Given the description of an element on the screen output the (x, y) to click on. 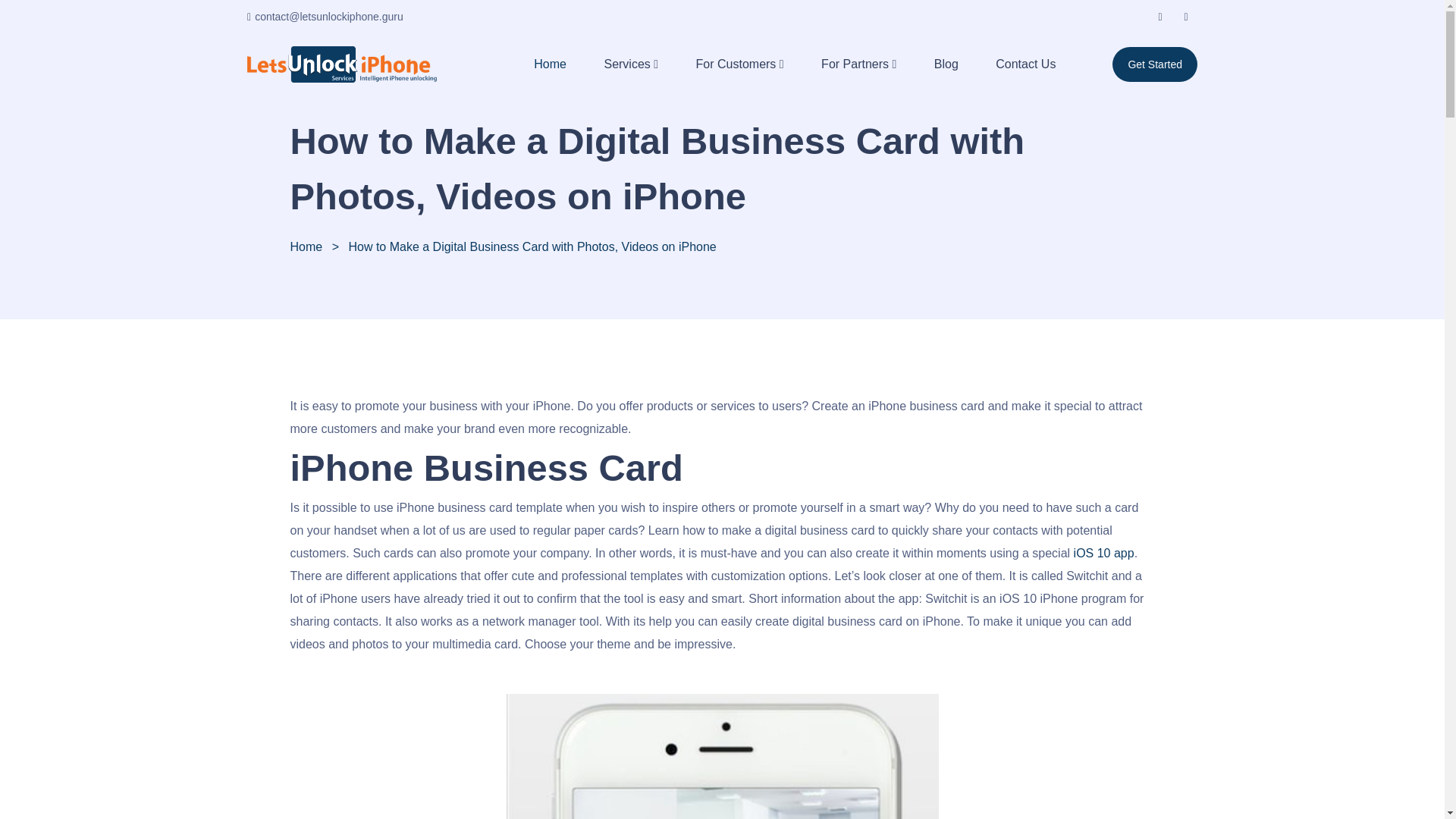
For Customers (730, 63)
Contact Us (1019, 63)
Services (620, 63)
For Partners (848, 63)
Get Started (1154, 64)
iOS 10 app (1104, 553)
Home (305, 246)
Blog (940, 63)
Home (544, 63)
